Given the description of an element on the screen output the (x, y) to click on. 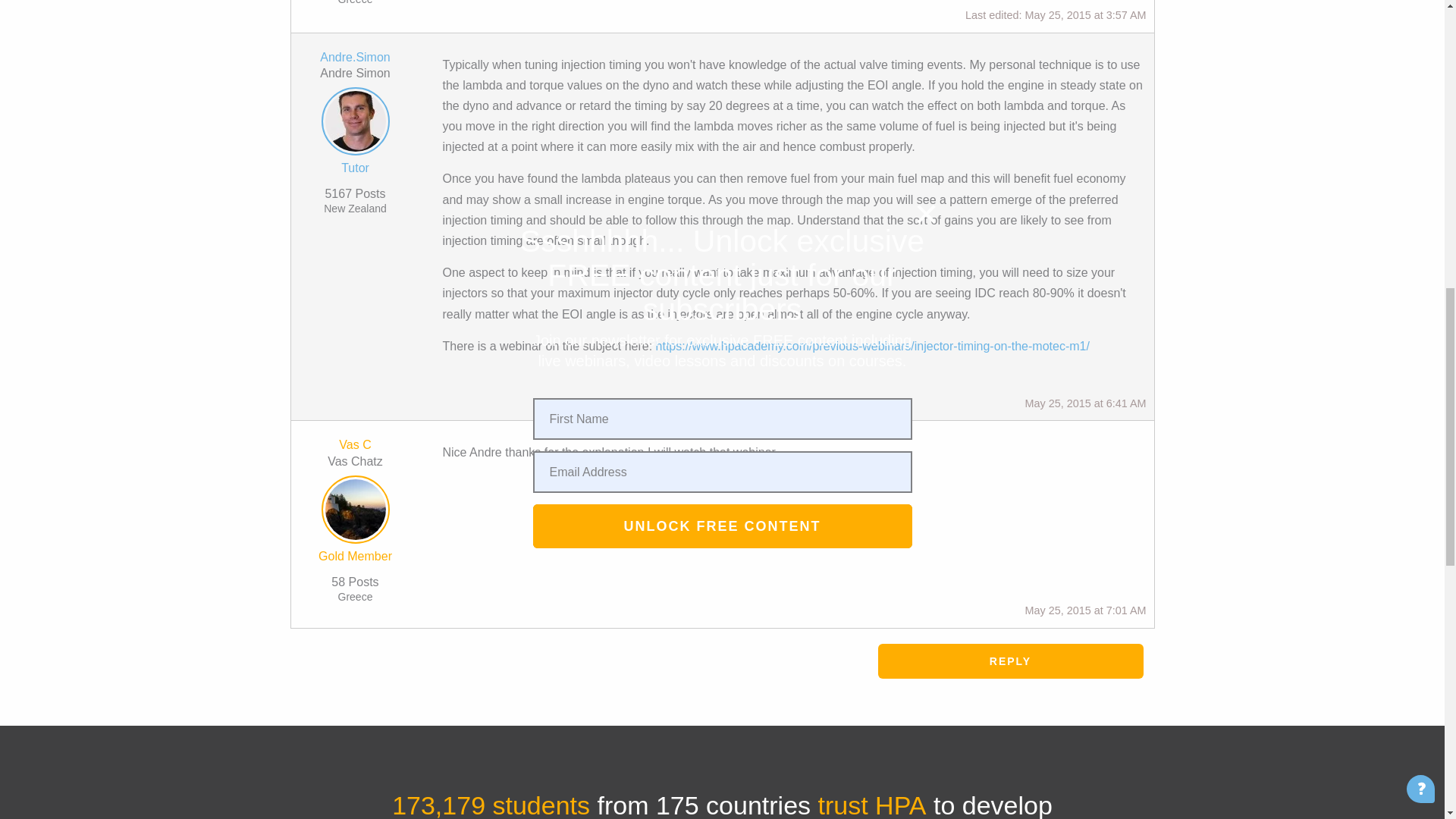
Click here to reply to this topic (1009, 660)
Click here to view Vas C (355, 444)
Click here to view Andre.Simon (355, 124)
Click here to view Andre.Simon (355, 56)
Click here to view Vas C (355, 512)
